Given the description of an element on the screen output the (x, y) to click on. 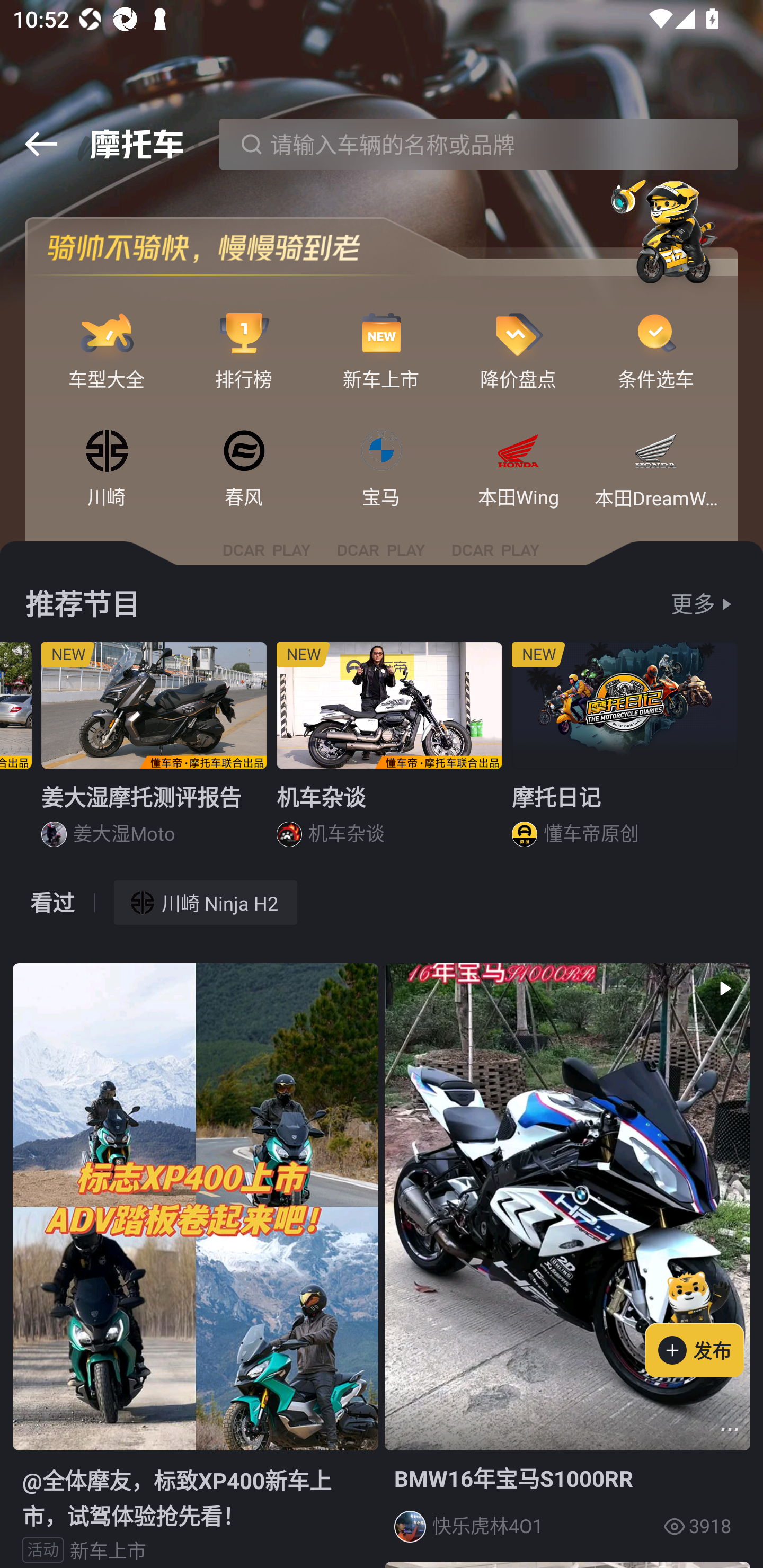
 请输入车辆的名称或品牌 (478, 144)
 (41, 144)
车型大全 (106, 334)
排行榜 (243, 334)
新车上市 (381, 334)
降价盘点 (518, 334)
条件选车 (655, 334)
川崎 (106, 452)
春风 (243, 452)
宝马 (381, 452)
本田Wing (518, 452)
本田DreamWing (655, 452)
更多 (692, 603)
NEW 姜大湿摩托测评报告 姜大湿Moto (154, 750)
NEW 机车杂谈 机车杂谈 (389, 750)
NEW 摩托日记 懂车帝原创 (624, 750)
川崎 Ninja H2 (205, 902)
@全体摩友，标致XP400新车上市，试驾体验抢先看！ 活动 新车上市 (195, 1265)
  BMW16年宝马S1000RR 快乐虎林4O1 < >3918 (567, 1258)
发布 (704, 1320)
 (729, 1429)
